Given the description of an element on the screen output the (x, y) to click on. 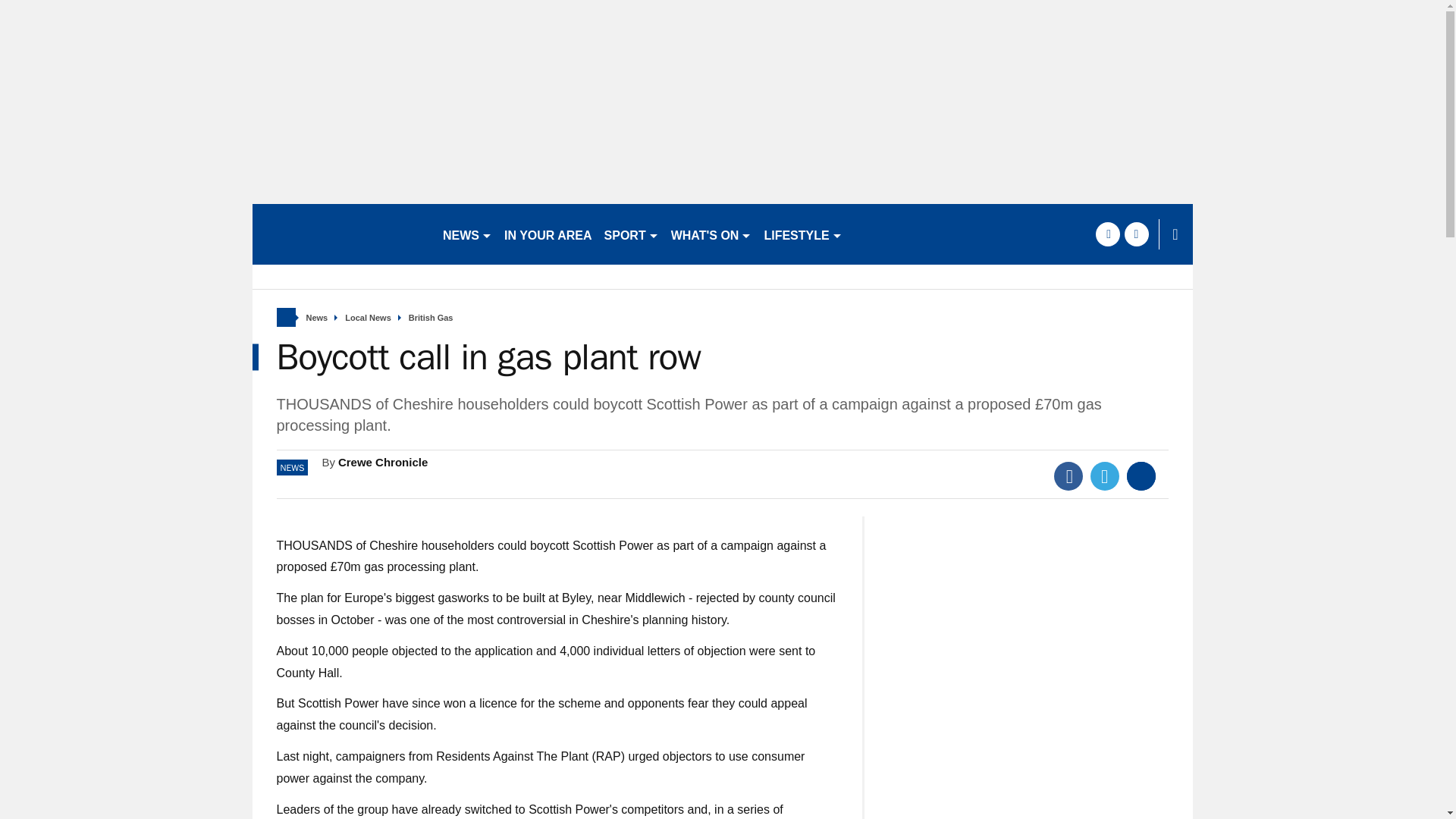
crewechronicle (340, 233)
NEWS (466, 233)
WHAT'S ON (711, 233)
IN YOUR AREA (547, 233)
twitter (1136, 233)
Facebook (1068, 475)
facebook (1106, 233)
Twitter (1104, 475)
LIFESTYLE (802, 233)
SPORT (631, 233)
